Given the description of an element on the screen output the (x, y) to click on. 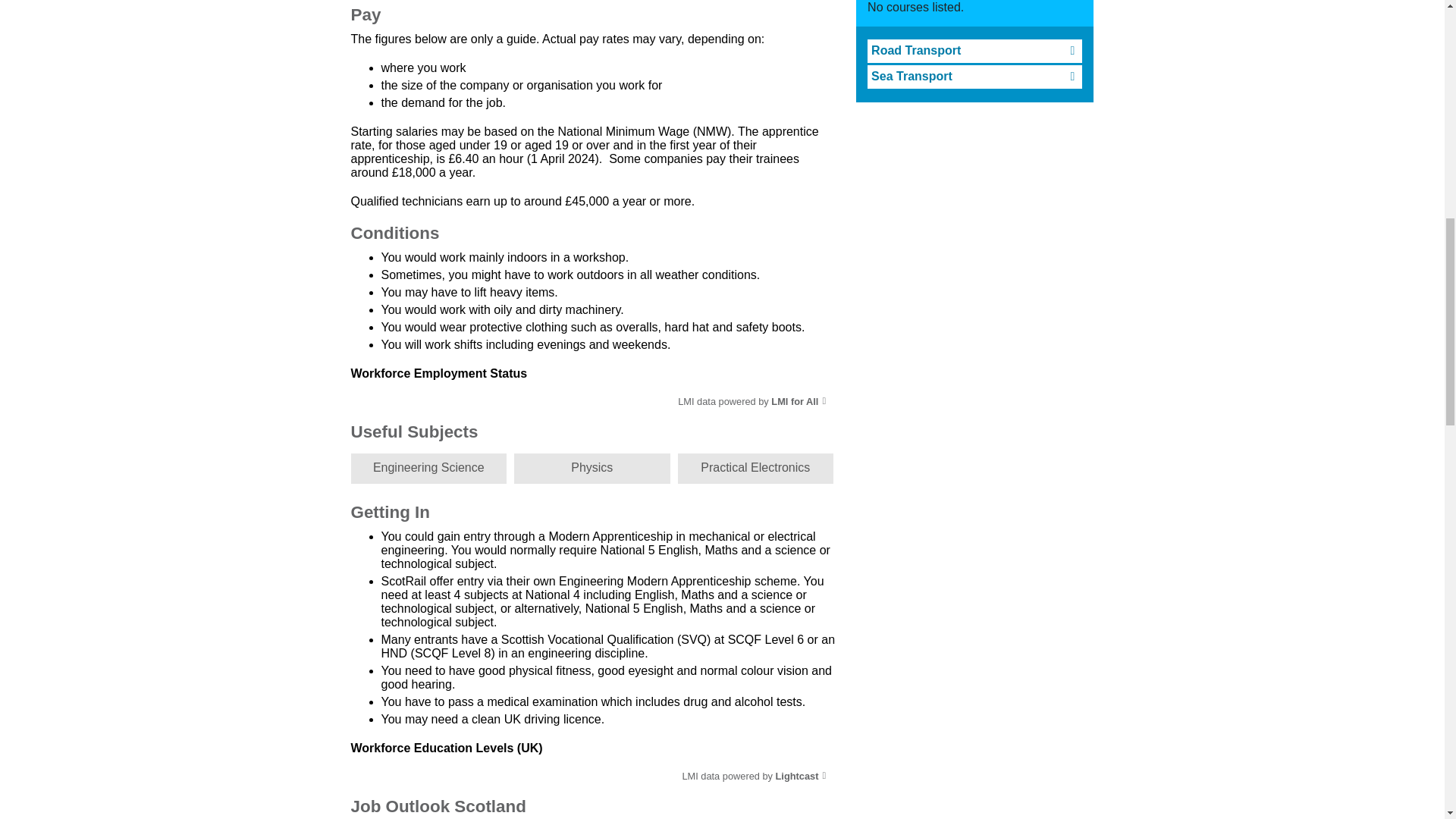
Practical Electronics (756, 468)
LMI for All (798, 401)
Physics (591, 468)
Engineering Science (428, 468)
Lightcast (801, 776)
